Given the description of an element on the screen output the (x, y) to click on. 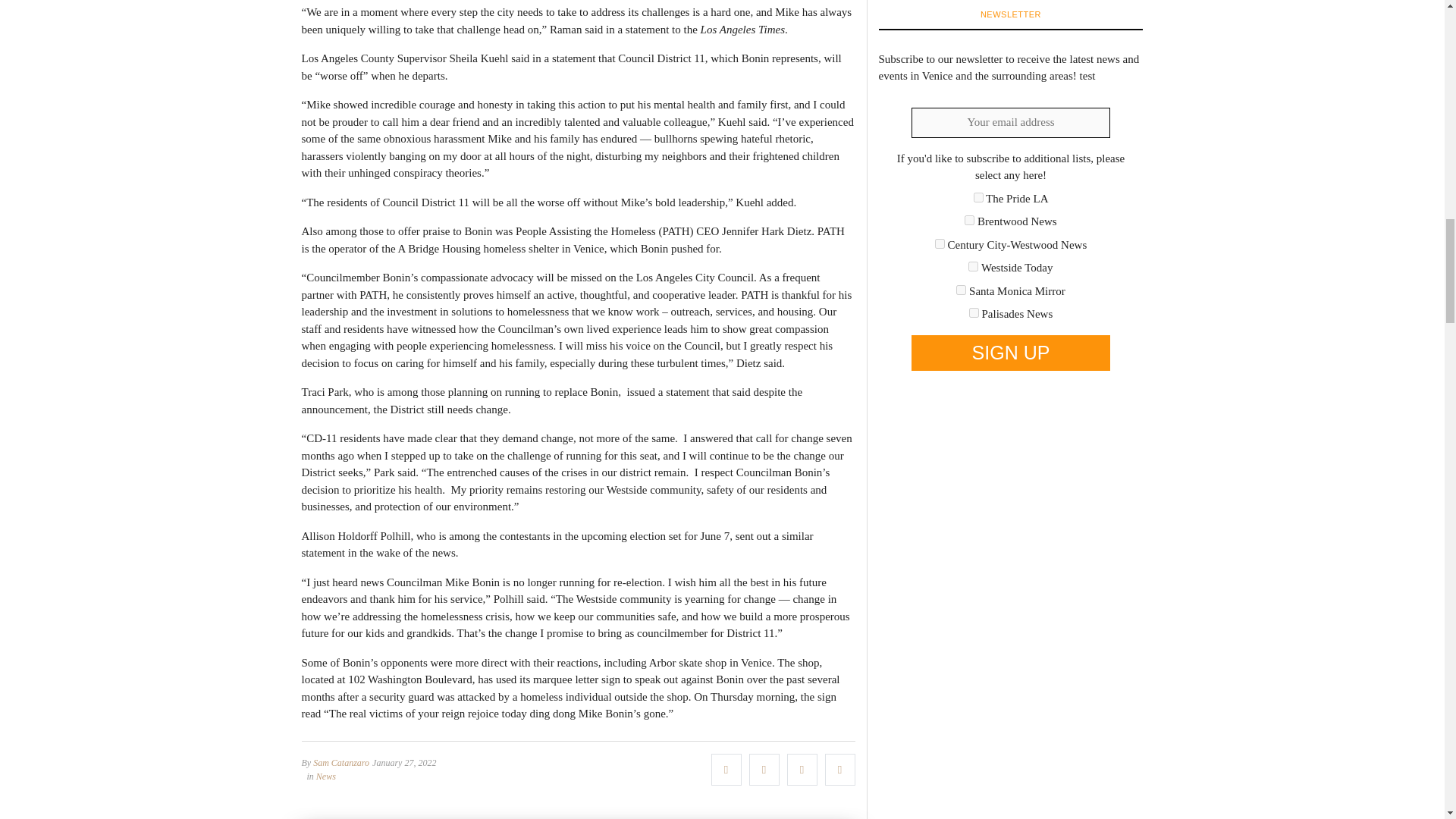
a3d1b6d535 (973, 266)
33f79e7e4d (979, 197)
5fac618226 (939, 243)
d0b5733862 (961, 289)
382281a661 (968, 220)
Sam Catanzaro (341, 761)
Sign up (1010, 352)
News (325, 775)
Posts by Sam Catanzaro (341, 761)
ec7d882848 (973, 312)
